Given the description of an element on the screen output the (x, y) to click on. 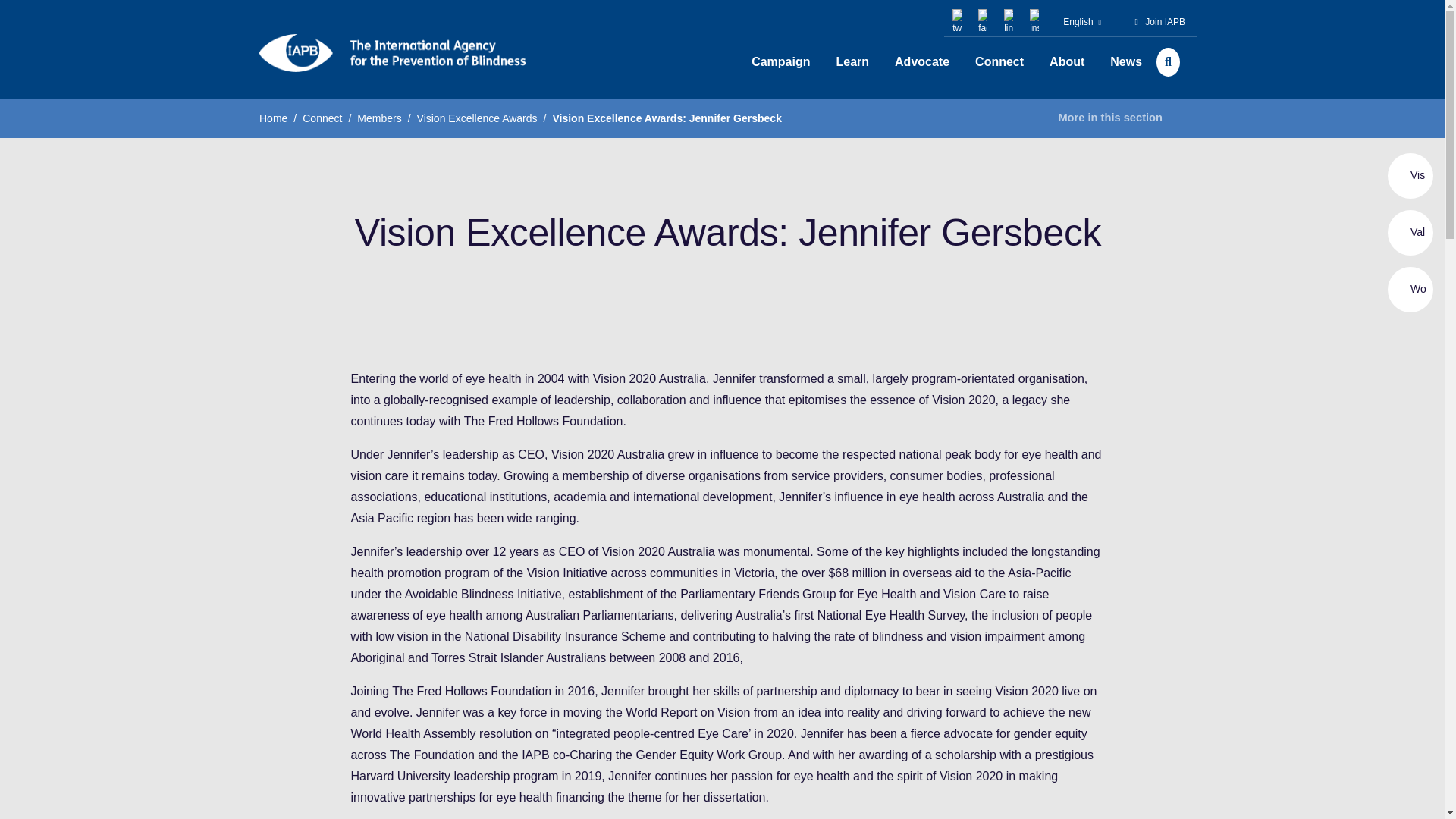
IAPB Home Page (392, 53)
Campaign (780, 61)
Join IAPB (1164, 21)
Learn (852, 61)
